Given the description of an element on the screen output the (x, y) to click on. 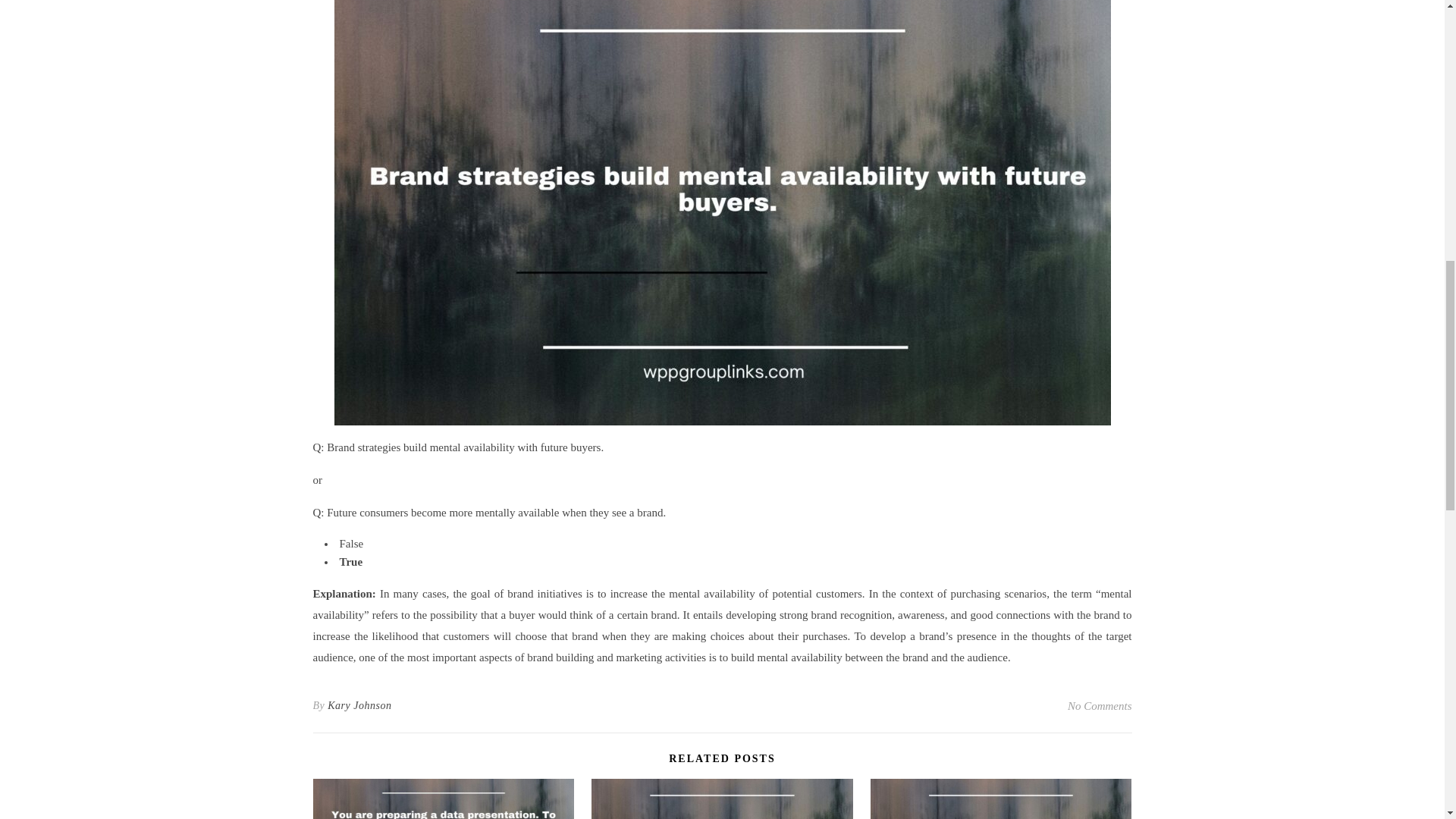
Posts by Kary Johnson (359, 705)
No Comments (1099, 705)
Kary Johnson (359, 705)
